Given the description of an element on the screen output the (x, y) to click on. 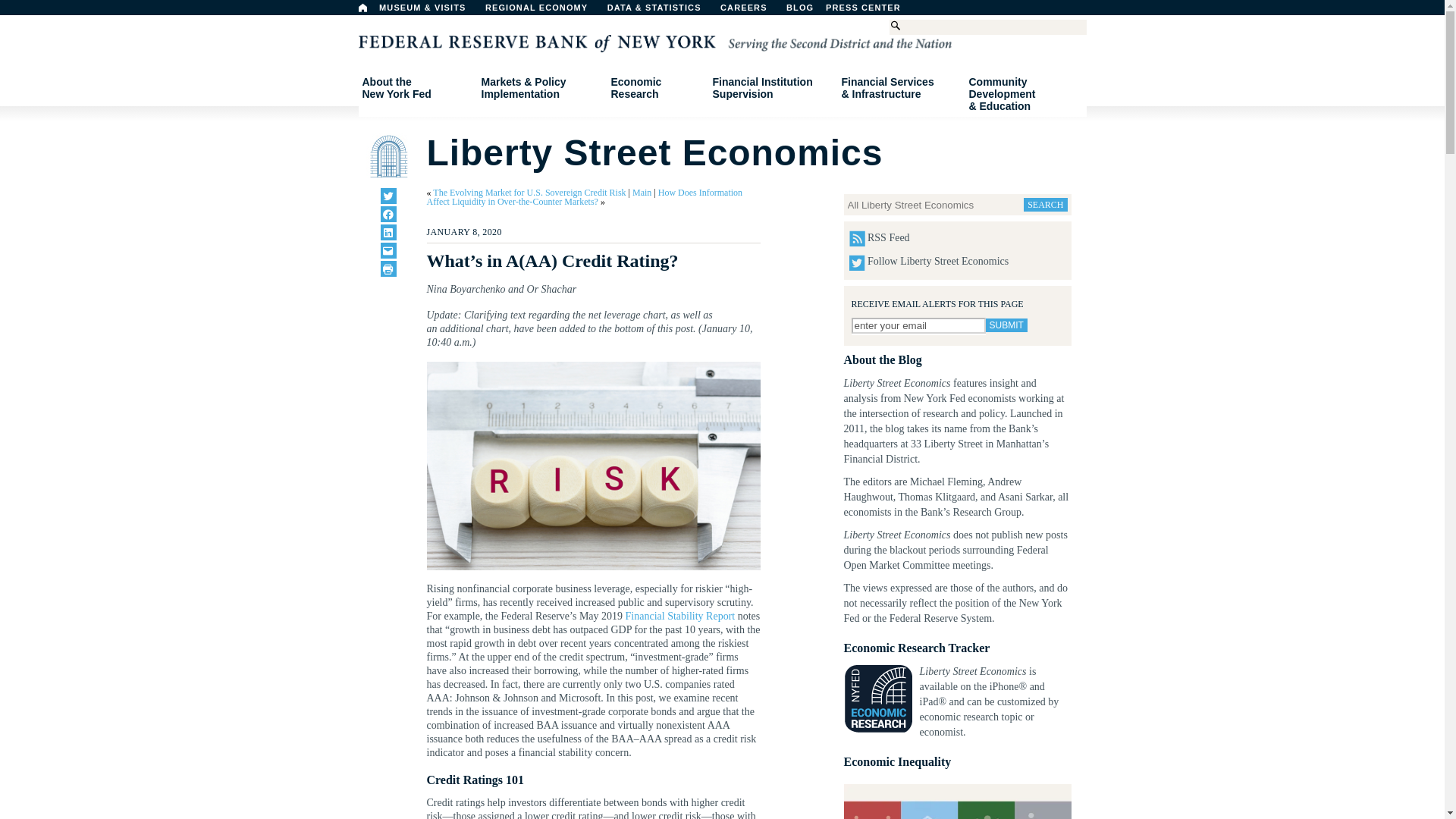
Click to share on LinkedIn (388, 232)
Click to share on Twitter (388, 195)
Click to email a link to a friend (388, 250)
Click to share on Facebook (388, 213)
Home (362, 8)
BLOG (839, 11)
enter your email (917, 325)
Submit (415, 87)
PRESS CENTER (1006, 325)
